Given the description of an element on the screen output the (x, y) to click on. 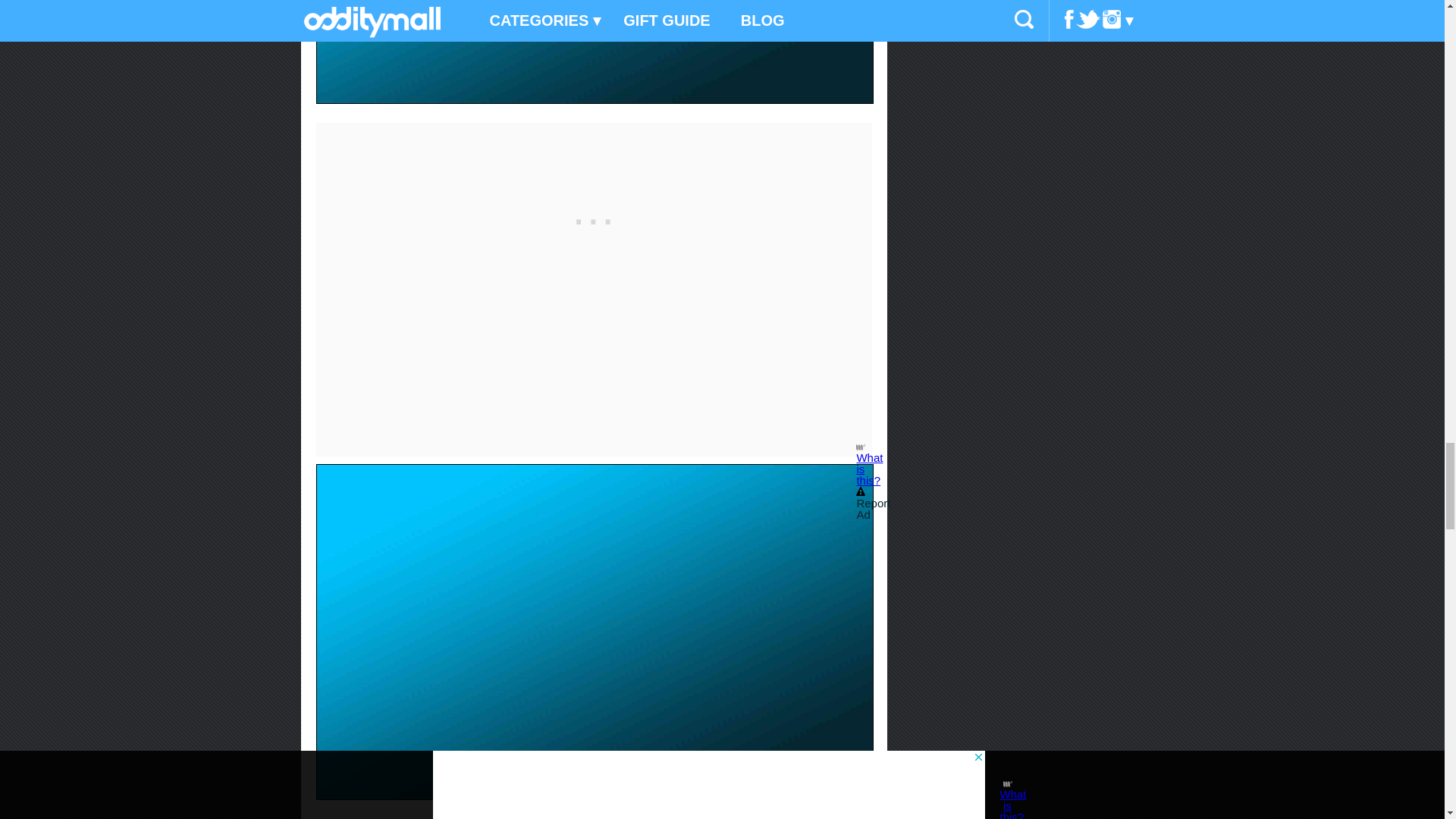
3rd party ad content (593, 217)
